Given the description of an element on the screen output the (x, y) to click on. 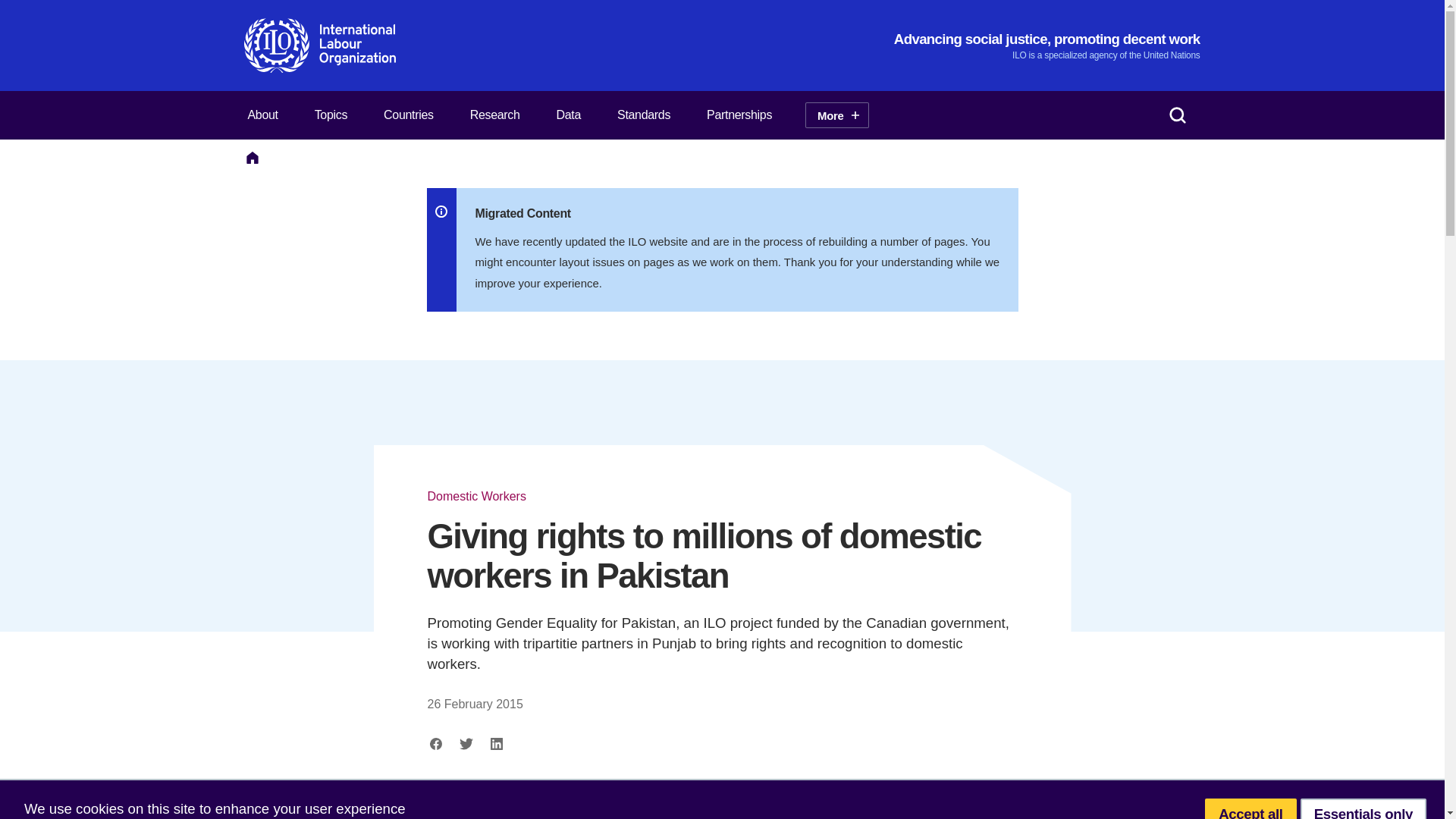
Data (568, 114)
Countries (408, 114)
Twitter (466, 743)
Partnerships (739, 114)
Topics (331, 114)
Standards (643, 114)
Linkedin (496, 743)
About (261, 114)
Search (1176, 114)
More (836, 114)
